Given the description of an element on the screen output the (x, y) to click on. 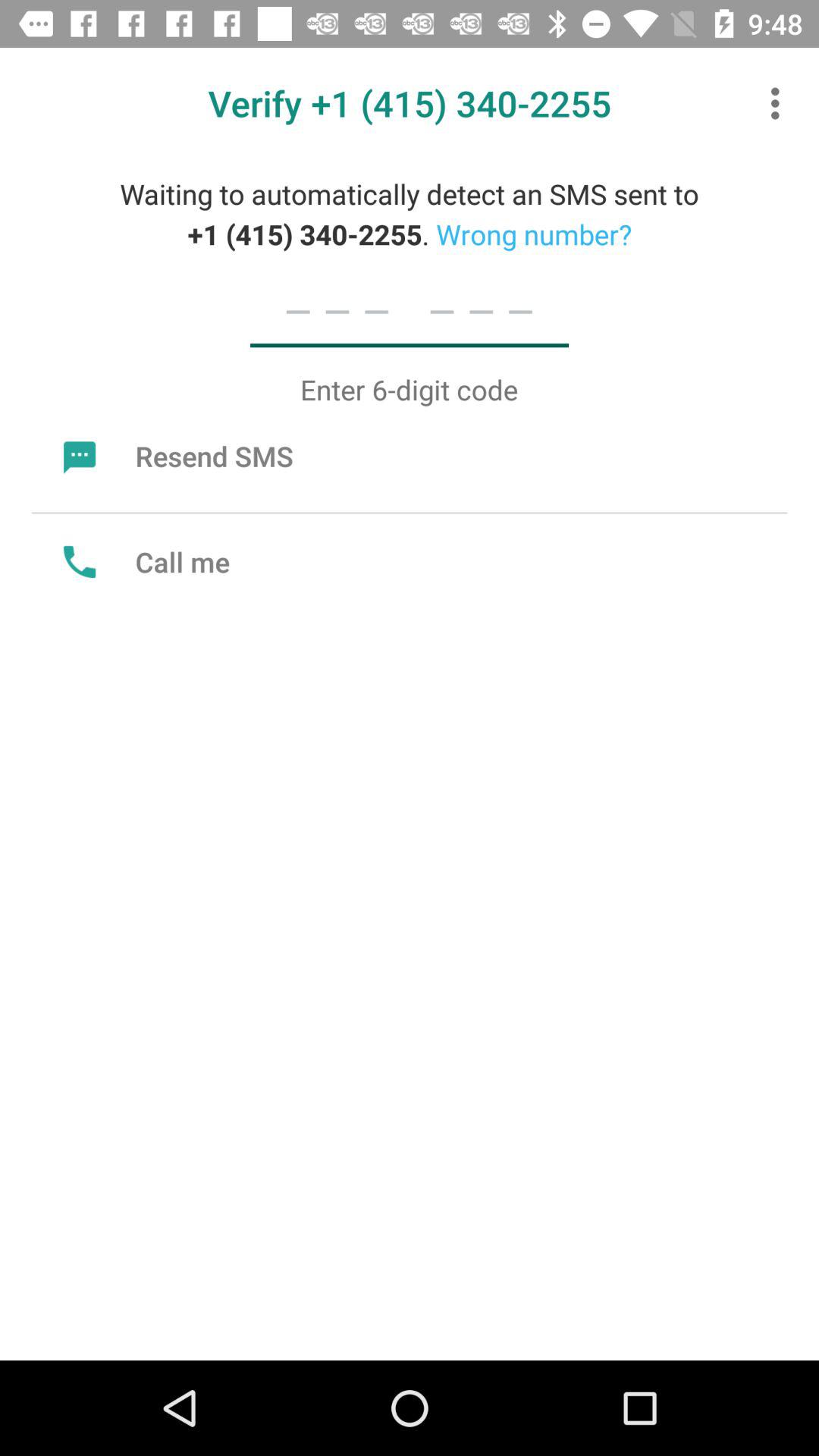
tap icon below waiting to automatically icon (409, 309)
